Given the description of an element on the screen output the (x, y) to click on. 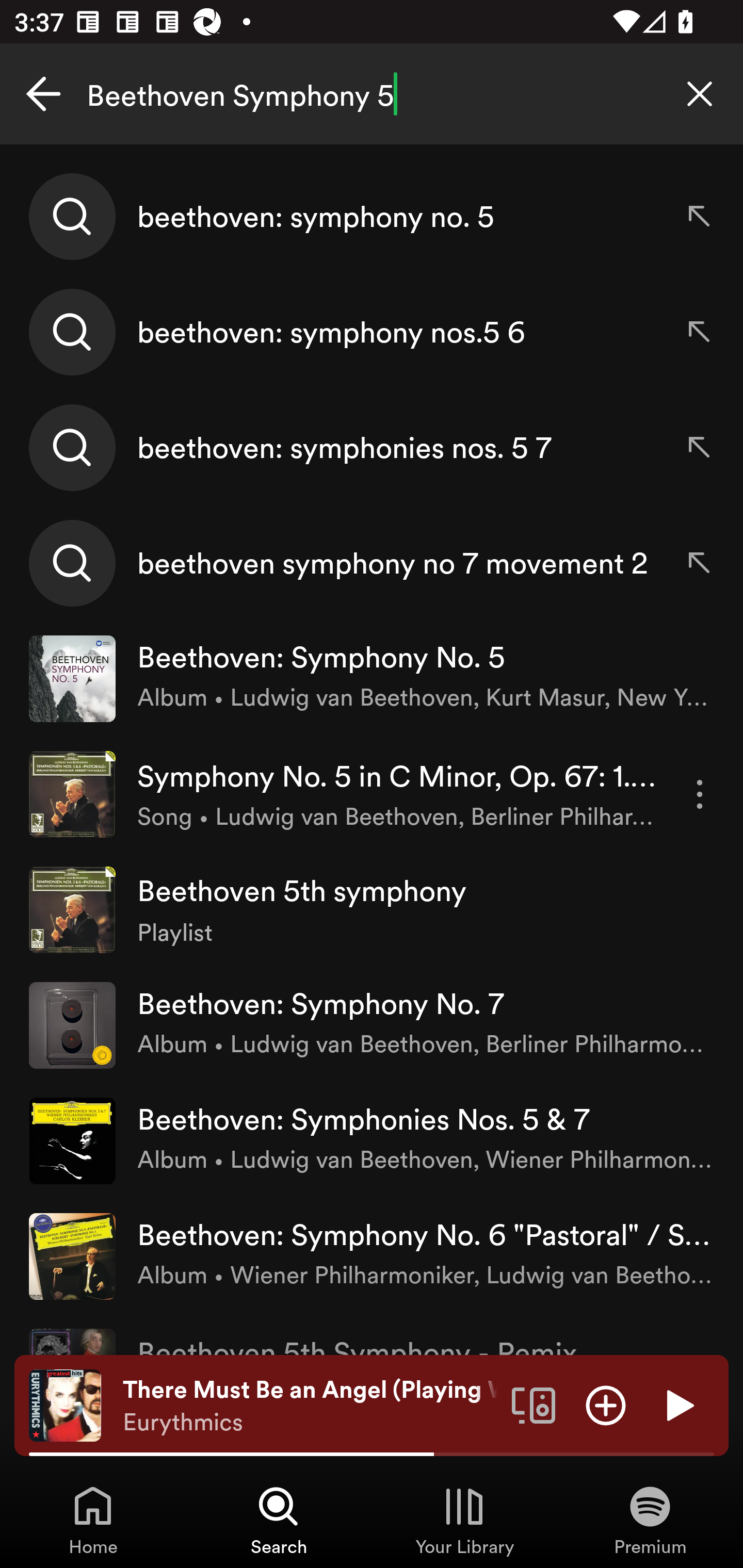
Beethoven Symphony 5 (371, 93)
Cancel (43, 93)
Clear search query (699, 93)
beethoven: symphony no. 5 (371, 216)
beethoven: symphony nos.5 6 (371, 332)
beethoven: symphonies nos. 5 7 (371, 447)
beethoven symphony no 7 movement 2 (371, 562)
Beethoven 5th symphony Playlist (371, 909)
The cover art of the currently playing track (64, 1404)
Connect to a device. Opens the devices menu (533, 1404)
Add item (605, 1404)
Play (677, 1404)
Home, Tab 1 of 4 Home Home (92, 1519)
Search, Tab 2 of 4 Search Search (278, 1519)
Your Library, Tab 3 of 4 Your Library Your Library (464, 1519)
Premium, Tab 4 of 4 Premium Premium (650, 1519)
